Given the description of an element on the screen output the (x, y) to click on. 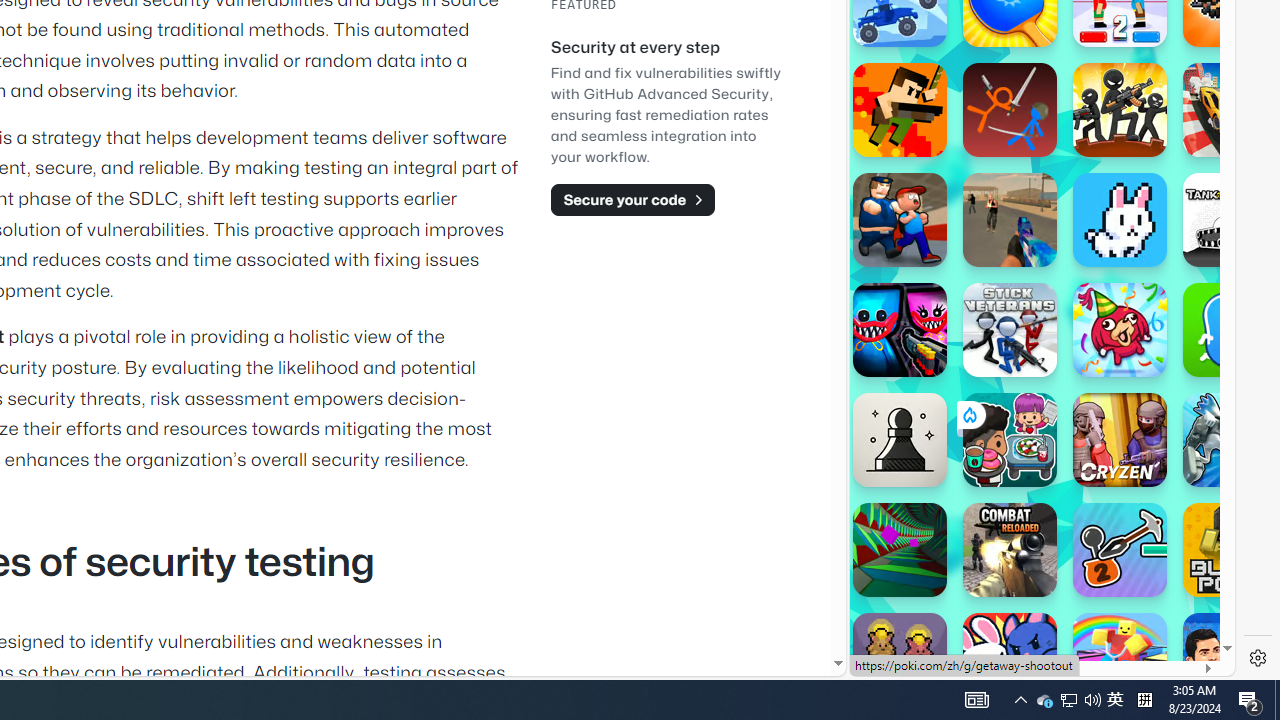
Hills of Steel (925, 290)
poki.com (1092, 338)
Poor Bunny (1119, 219)
Blockpost Blockpost (1229, 549)
Tank Trouble (1229, 219)
Crazy Cars (1217, 290)
PartyToons PartyToons (1119, 329)
